Given the description of an element on the screen output the (x, y) to click on. 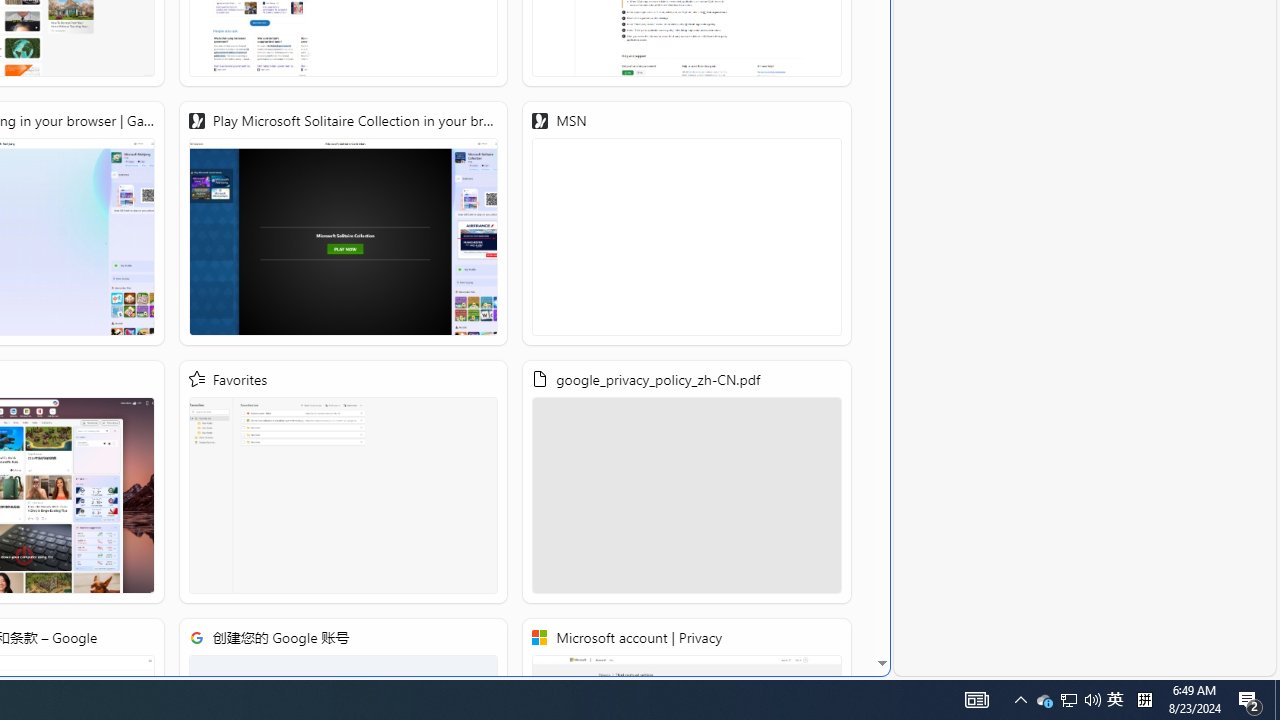
google_privacy_policy_zh-CN.pdf (687, 482)
